Given the description of an element on the screen output the (x, y) to click on. 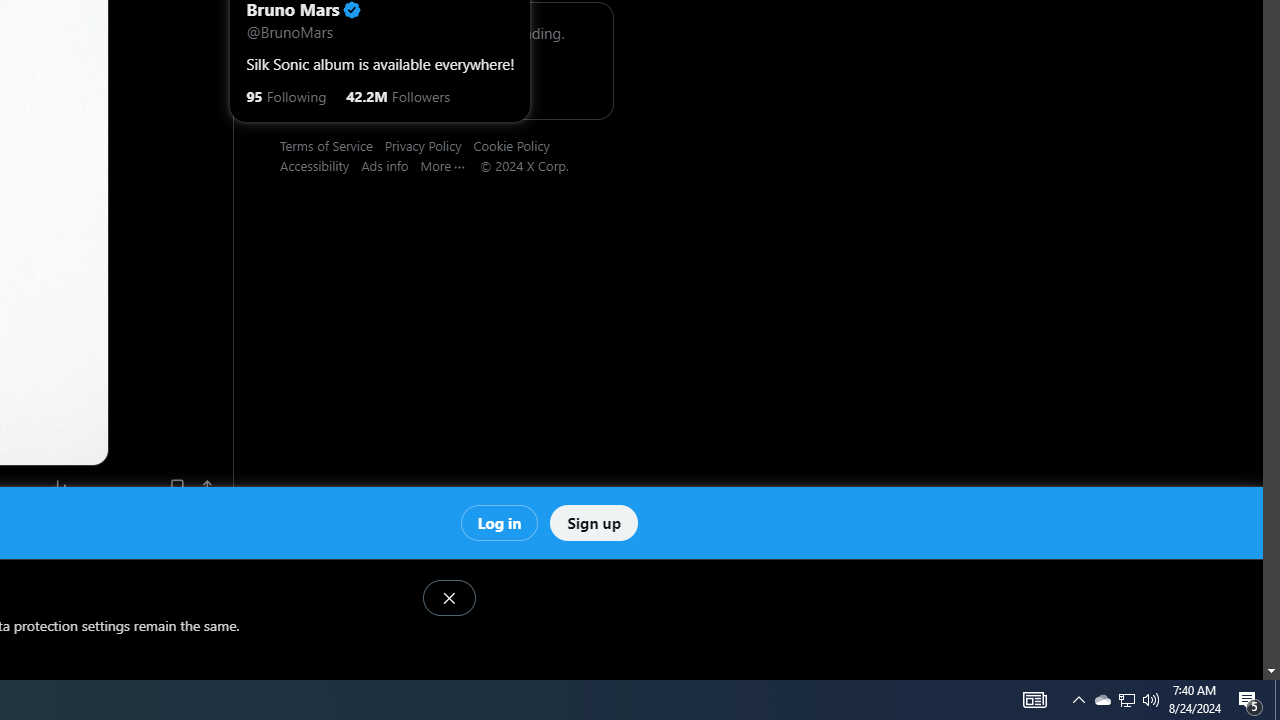
More (450, 165)
Ads info (390, 165)
